Given the description of an element on the screen output the (x, y) to click on. 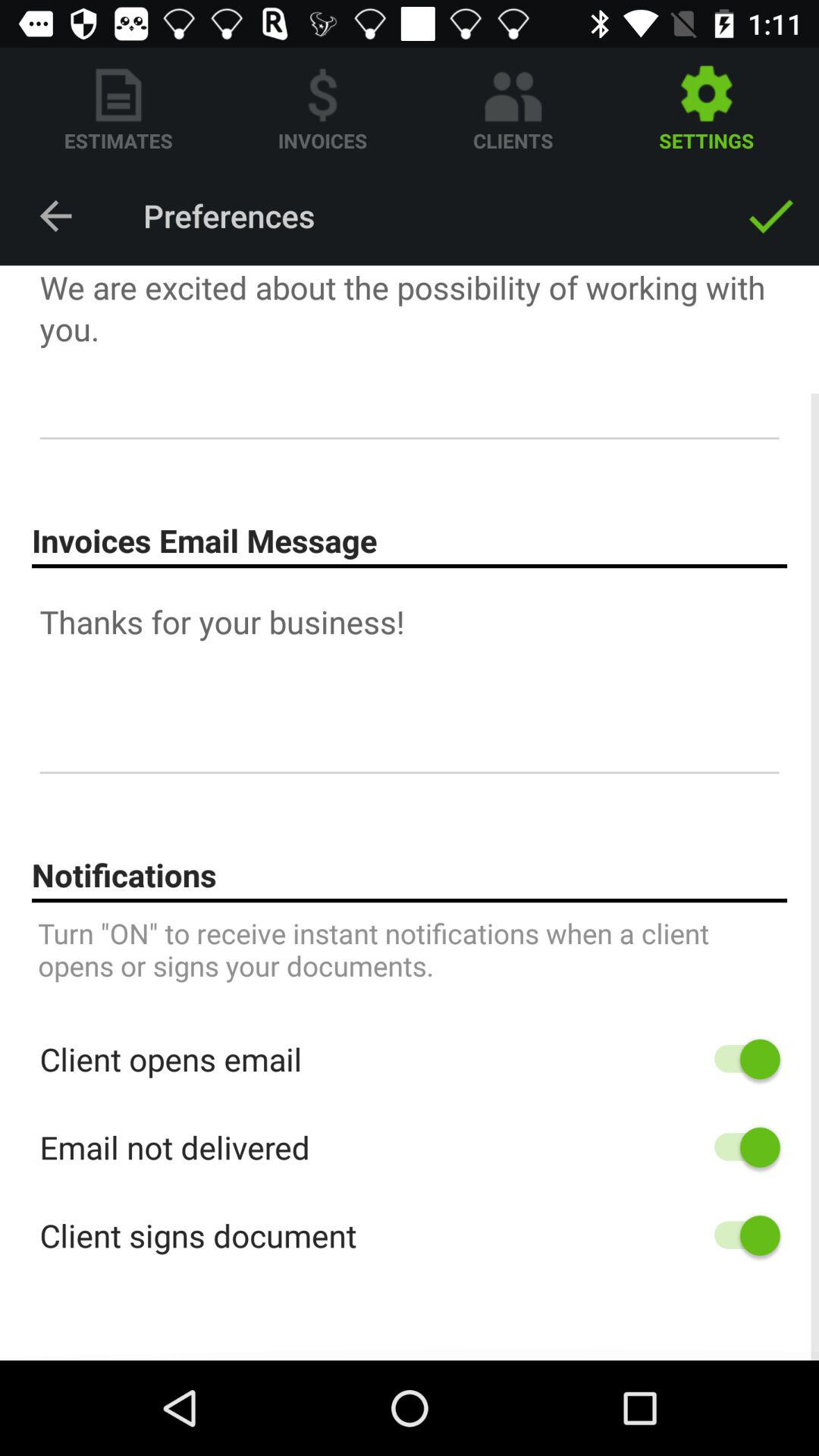
toggle notifications for client opening email (739, 1059)
